Given the description of an element on the screen output the (x, y) to click on. 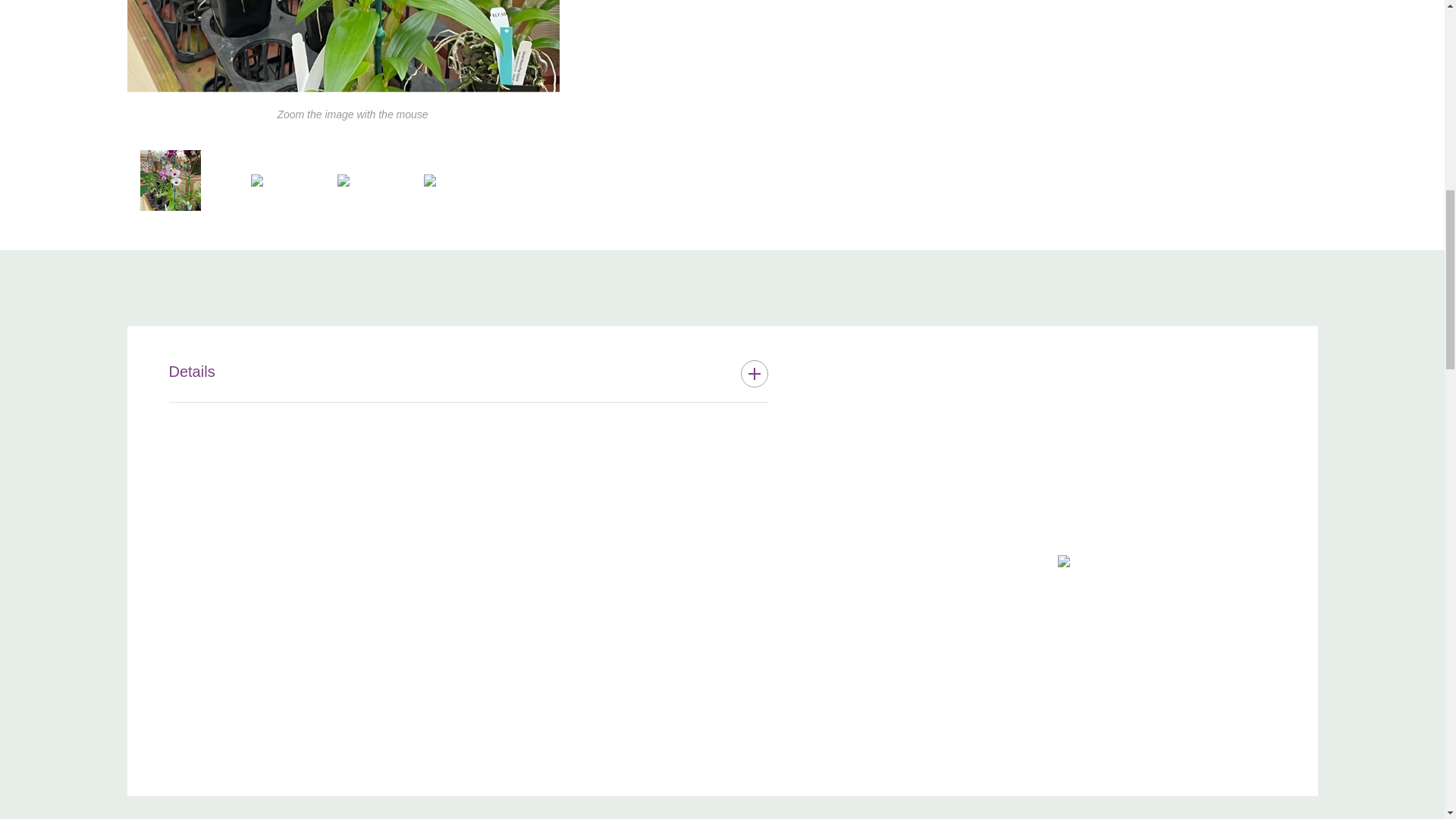
Any 4" Pot Den-Phal Orchid - GROWER'S CHOICE (429, 180)
Any 4" Pot Den-Phal Orchid - GROWER'S CHOICE (342, 180)
Any 4" Pot Den-Phal Orchid - GROWER'S CHOICE (343, 46)
Any 4" Pot Den-Phal Orchid - GROWER'S CHOICE (1062, 561)
Any 4" Pot Den-Phal Orchid - GROWER'S CHOICE (256, 180)
Any 4" Pot Den-Phal Orchid - GROWER'S CHOICE (169, 179)
